Given the description of an element on the screen output the (x, y) to click on. 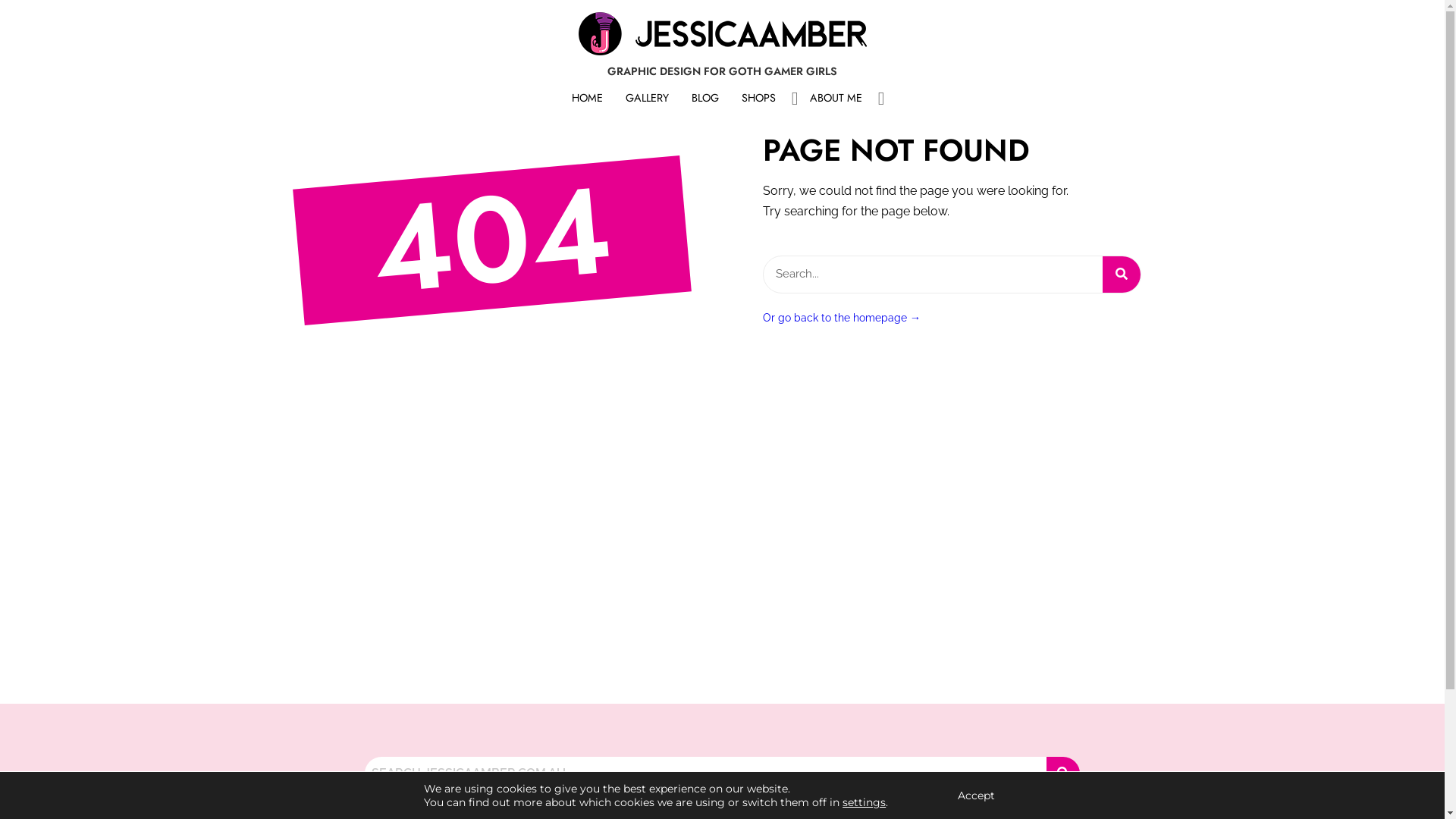
Accept Element type: text (976, 795)
Home Element type: text (722, 152)
HOME Element type: text (586, 97)
settings Element type: text (863, 802)
GALLERY Element type: text (647, 97)
Search Element type: hover (705, 773)
SHOPS Element type: text (757, 97)
ABOUT ME Element type: text (834, 97)
BLOG Element type: text (704, 97)
